Given the description of an element on the screen output the (x, y) to click on. 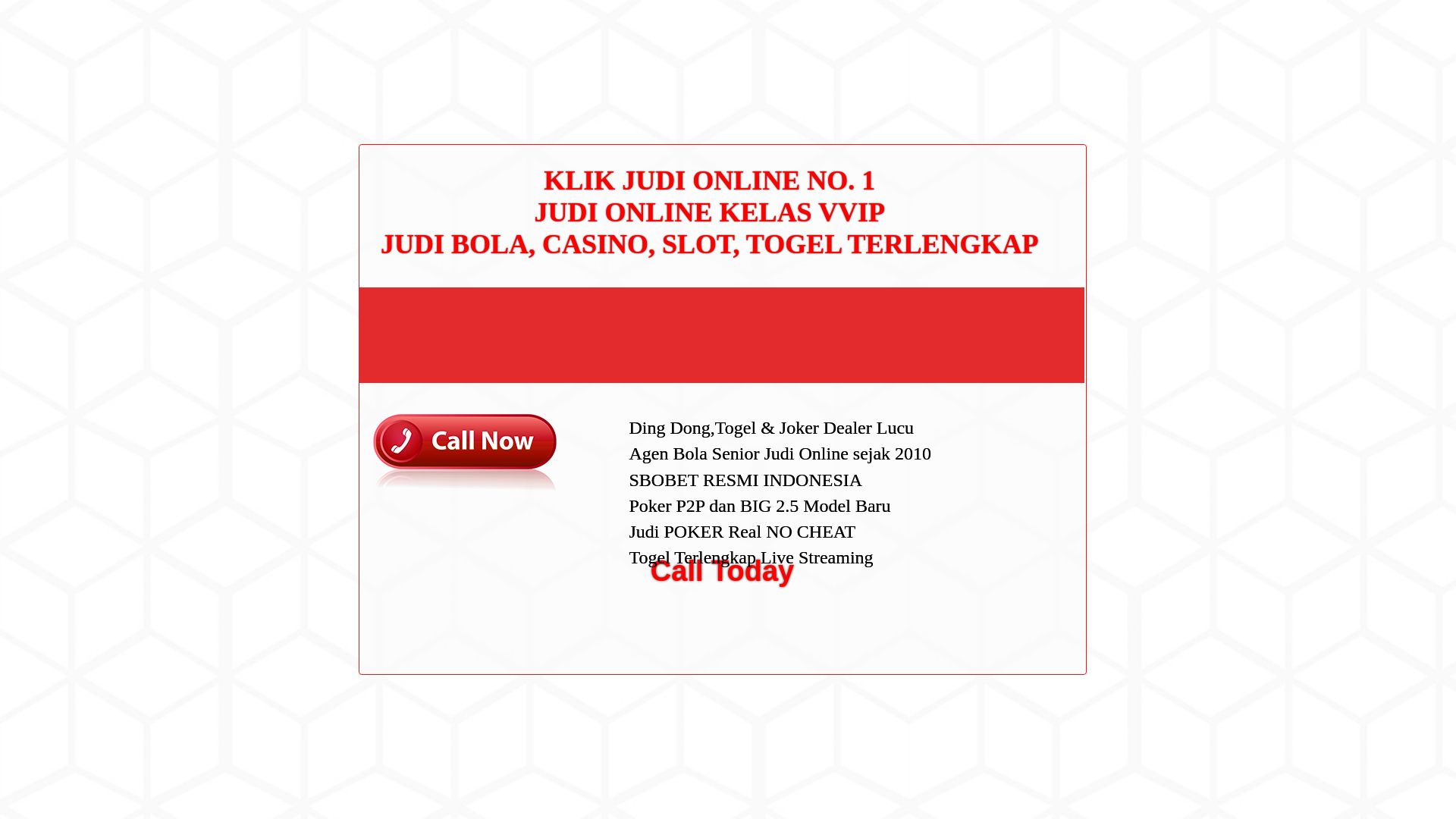
Search for: (1049, 47)
RSS (977, 612)
DMCA Policy (996, 282)
Privacy Policy (999, 306)
Search (1050, 85)
August 2020 (996, 432)
KANONSPORTS.COM (403, 28)
Latest Article (996, 172)
Disclaimer (990, 354)
Search (1050, 85)
Search (1050, 85)
Skip to content (34, 9)
ADMINISTRATOR (417, 81)
Blog (976, 510)
Terms of Use (996, 330)
